Given the description of an element on the screen output the (x, y) to click on. 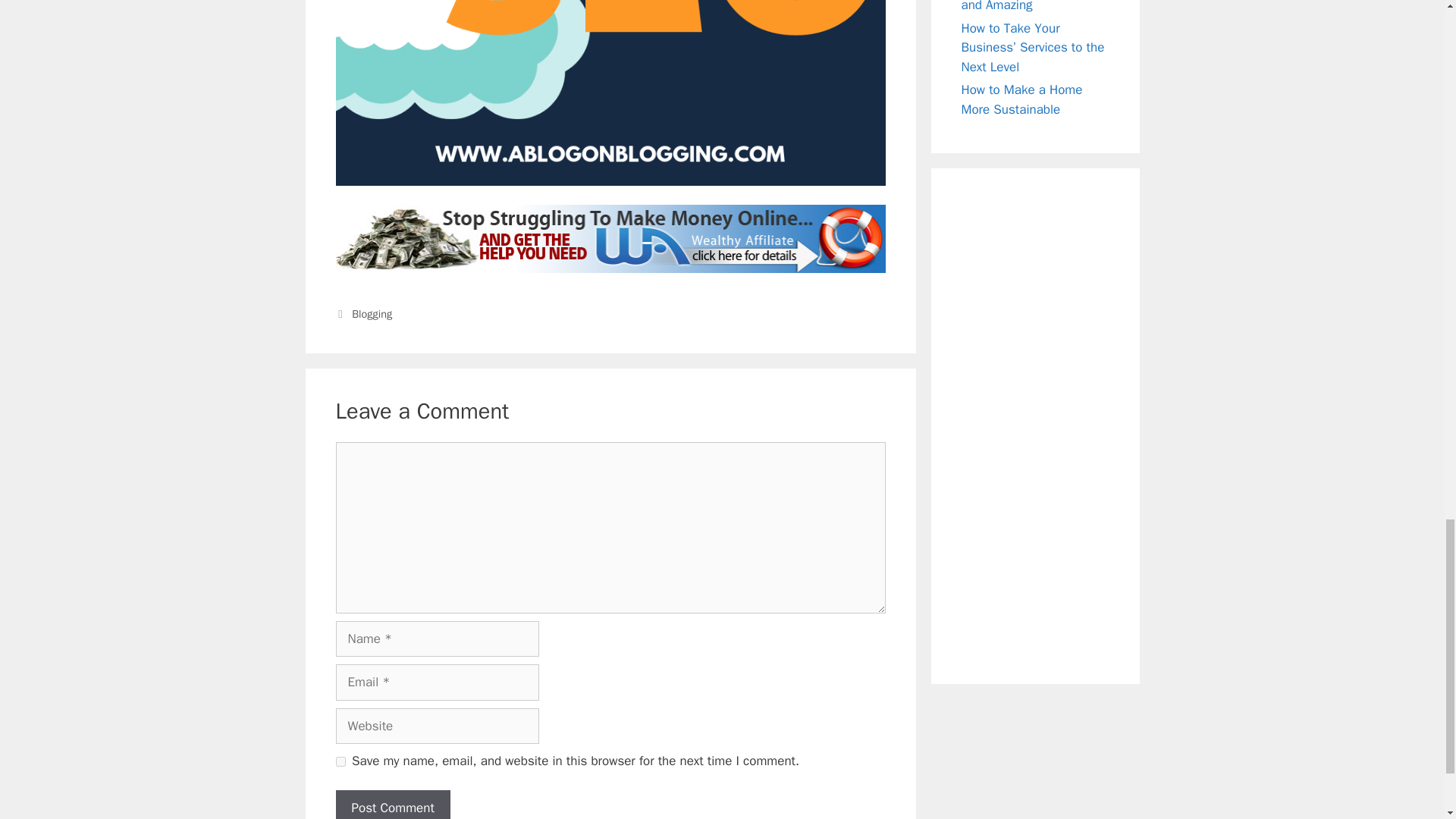
How to Make a Home More Sustainable (1021, 99)
yes (339, 761)
3 Ways to Make Your Home Look Sparkly, New and Amazing (1031, 6)
Blogging (371, 314)
Post Comment (391, 804)
Post Comment (391, 804)
